Given the description of an element on the screen output the (x, y) to click on. 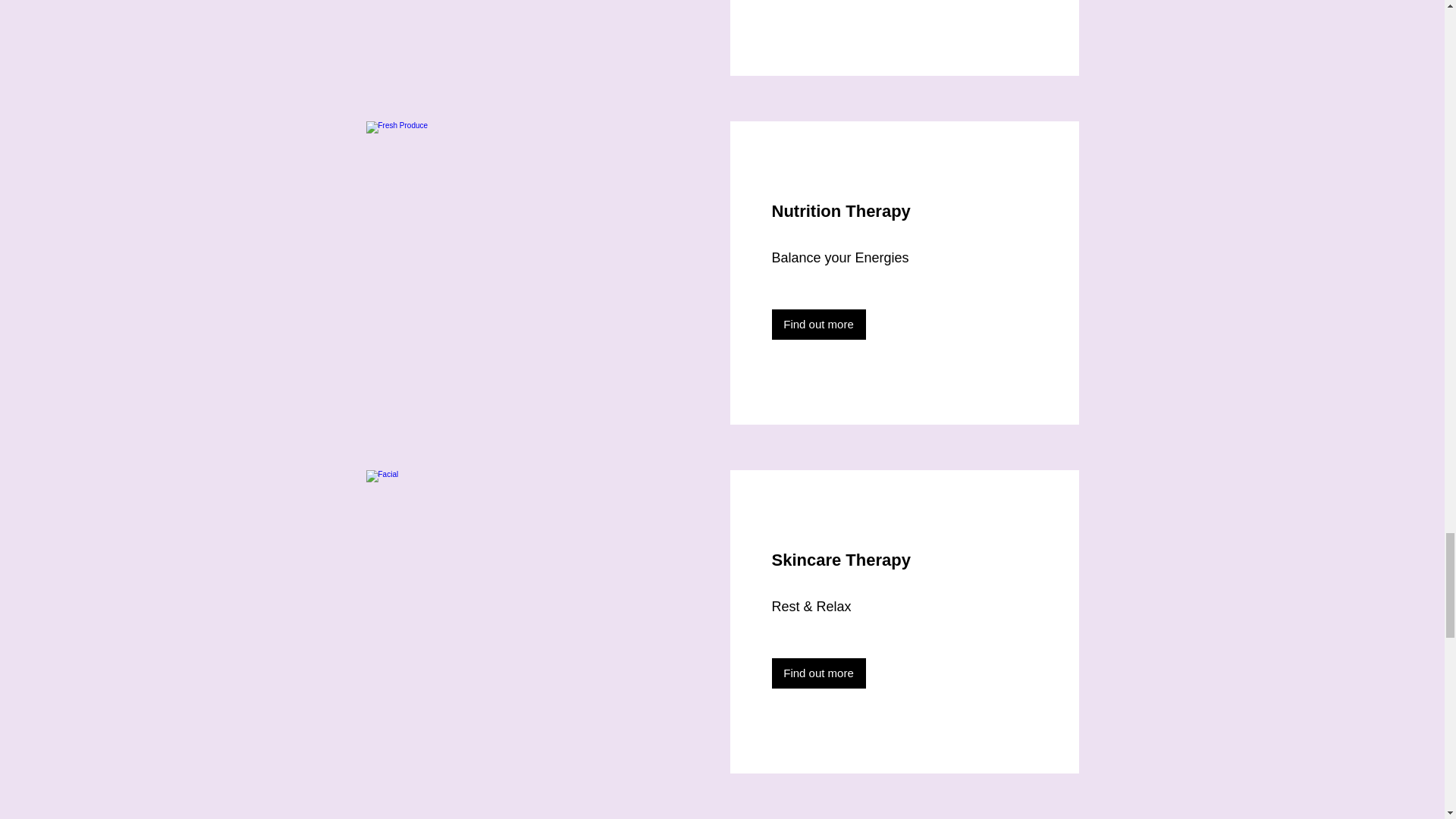
Find out more (818, 324)
Find out more (818, 673)
